Given the description of an element on the screen output the (x, y) to click on. 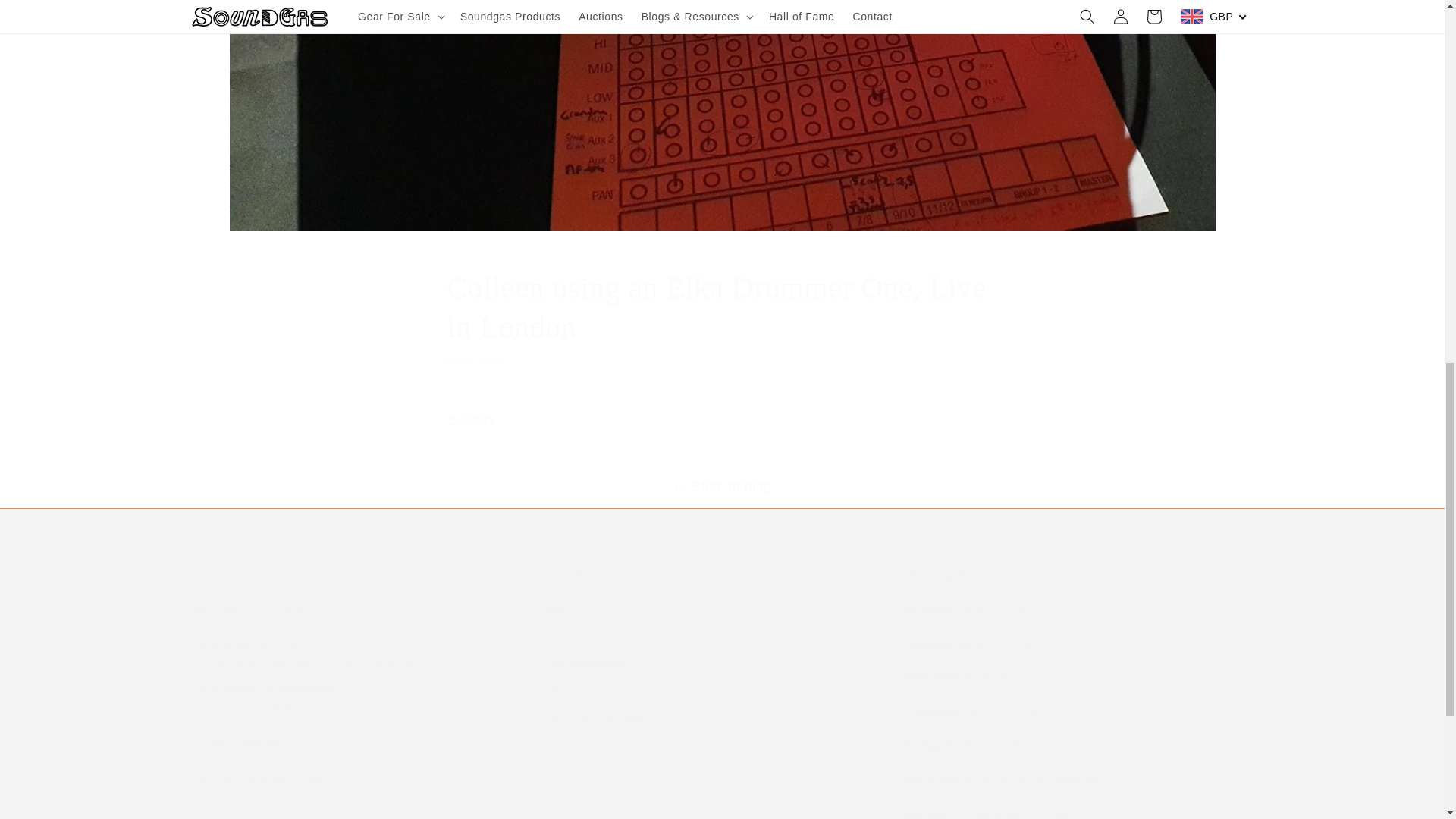
Share (721, 419)
